Given the description of an element on the screen output the (x, y) to click on. 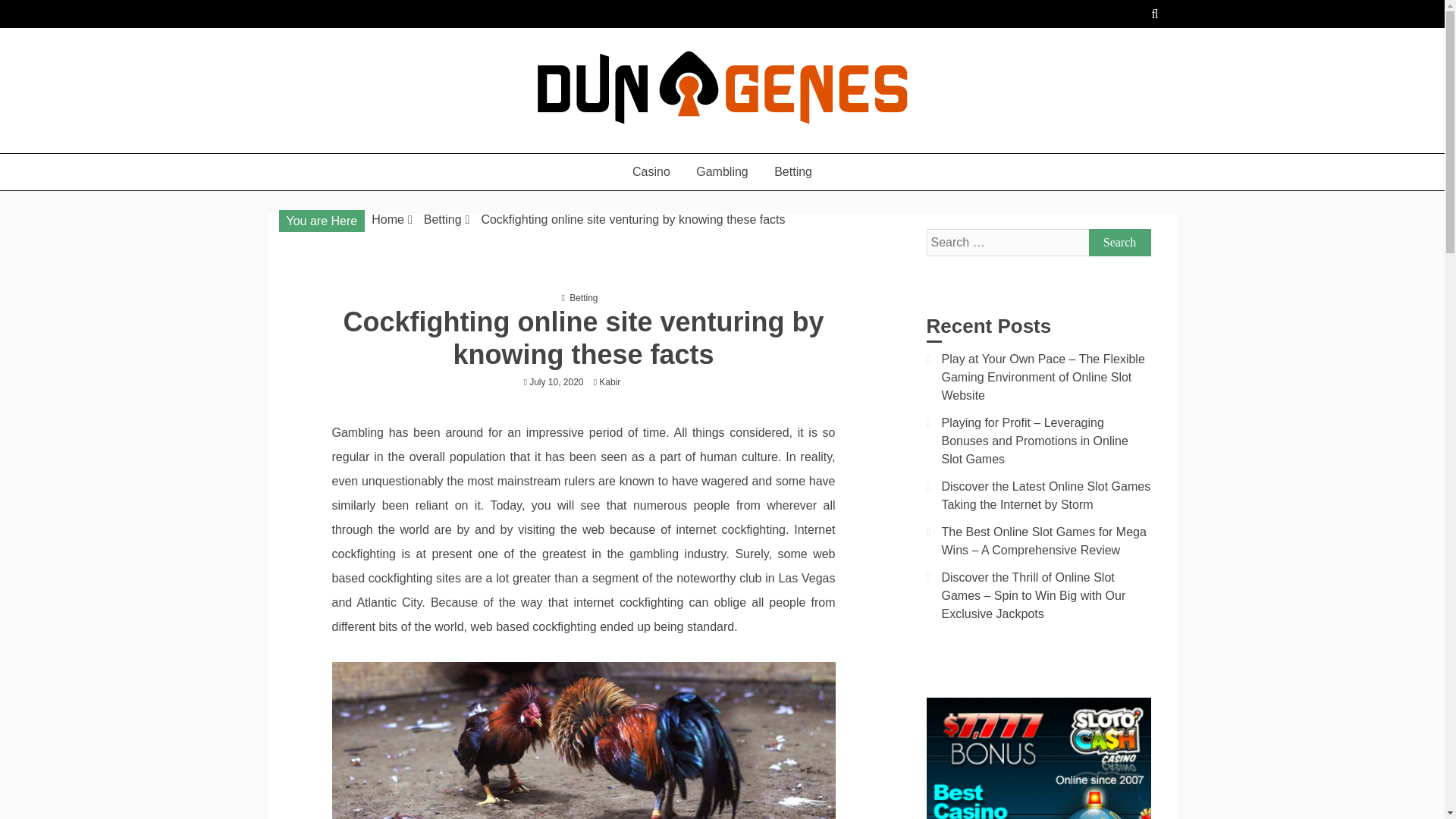
Search (1120, 242)
Casino play free online (412, 146)
Search (1120, 242)
Casino (651, 171)
Home (387, 219)
Betting (442, 219)
Gambling (721, 171)
Betting (582, 297)
Kabir (612, 381)
Cockfighting online site venturing by knowing these facts (632, 219)
July 10, 2020 (556, 381)
Search (1120, 242)
Betting (793, 171)
